Given the description of an element on the screen output the (x, y) to click on. 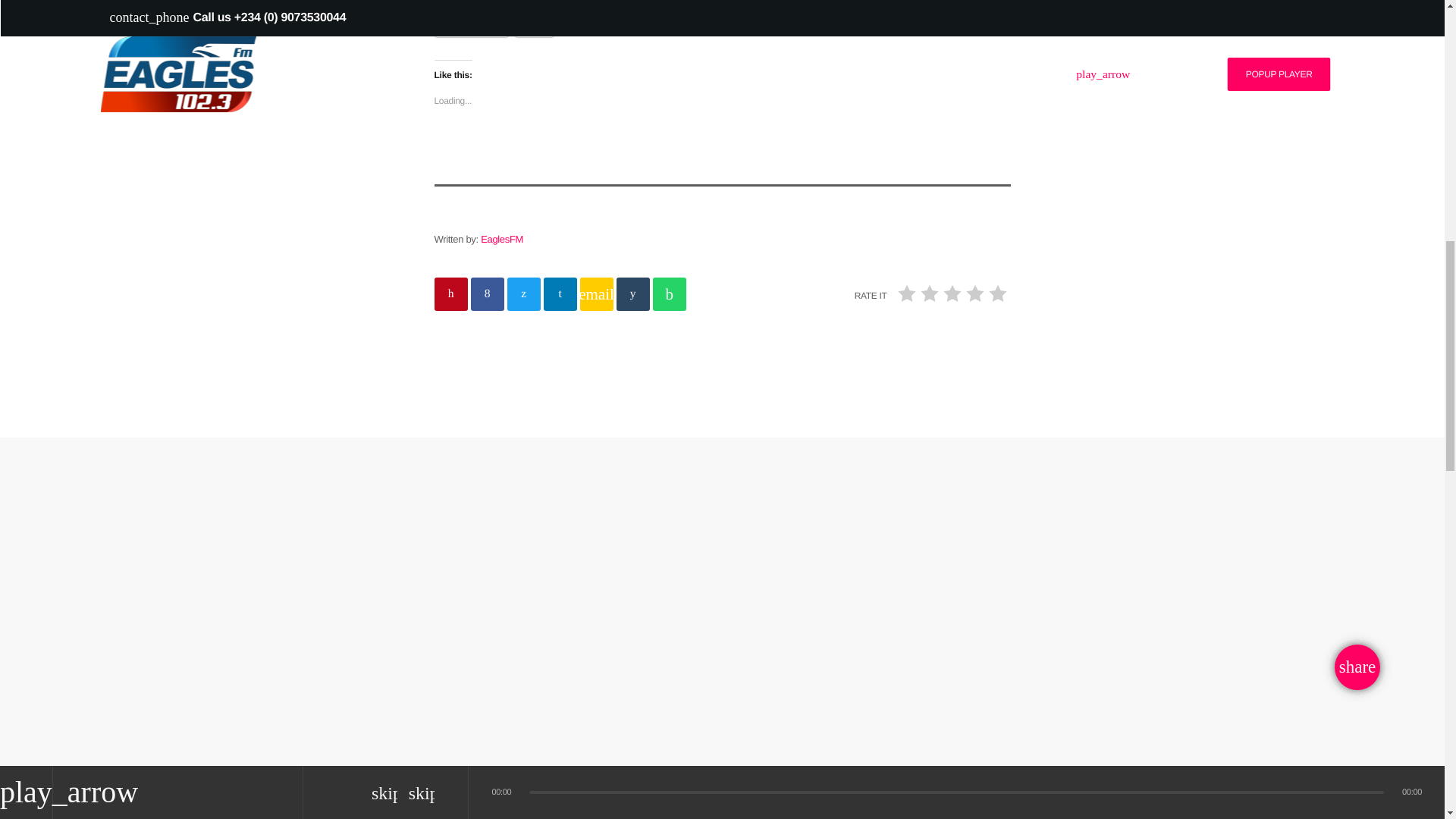
Facebook (470, 25)
X (534, 25)
Click to share on Facebook (470, 25)
Click to share on X (534, 25)
